Given the description of an element on the screen output the (x, y) to click on. 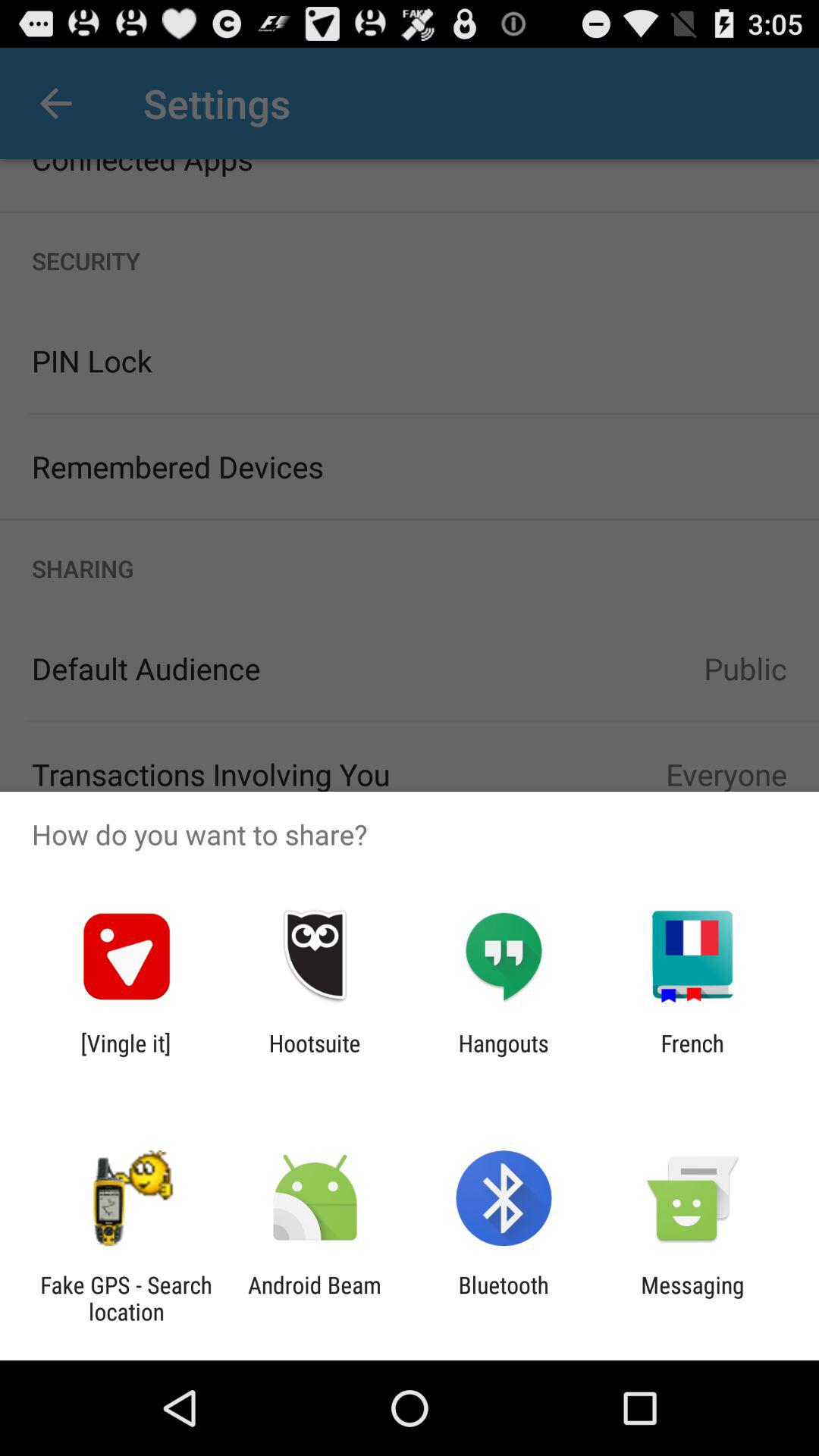
press android beam item (314, 1298)
